Given the description of an element on the screen output the (x, y) to click on. 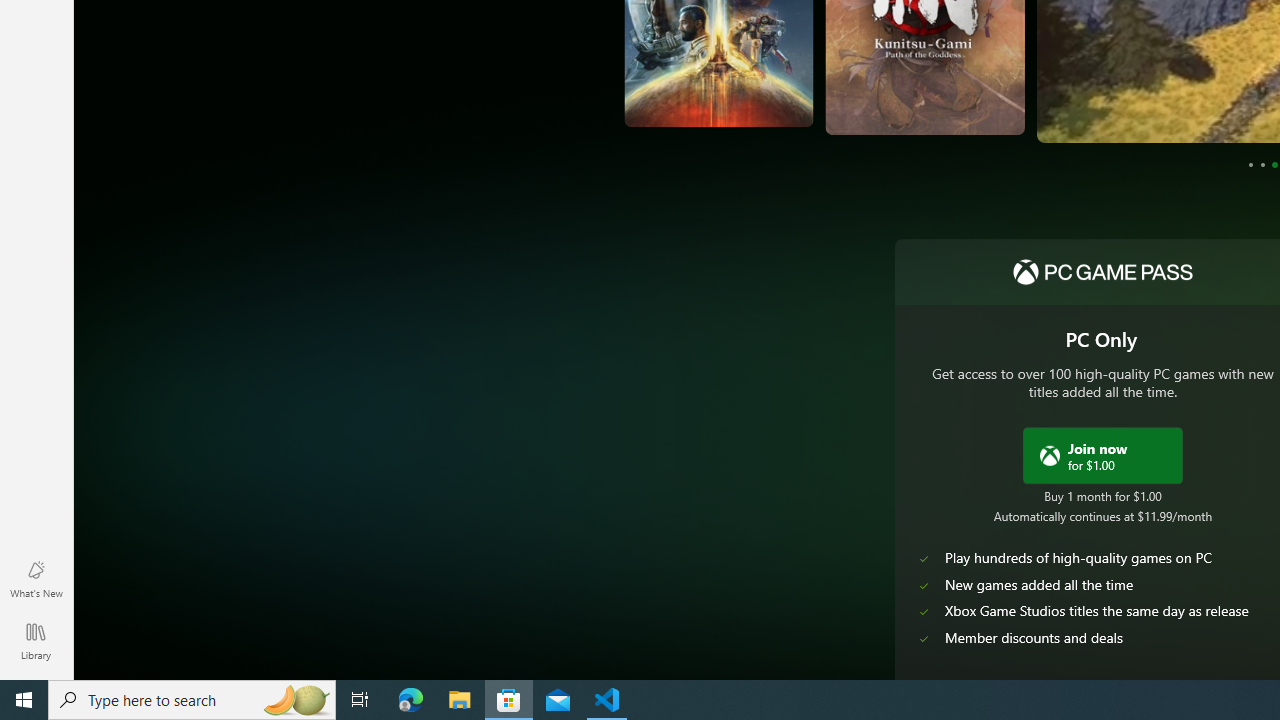
Join PC Game Pass now for $1.00 (1102, 454)
Opening Trailer (938, 94)
Dungeons Of Hinterberg (1147, 88)
AutomationID: LottiePlayer (937, 93)
Play Trailer (1156, 101)
PC Game Pass logo (1101, 272)
Page 2 (1262, 164)
Page 1 (1250, 164)
Kunitsu-Gami: Path of the Goddess (798, 83)
